Given the description of an element on the screen output the (x, y) to click on. 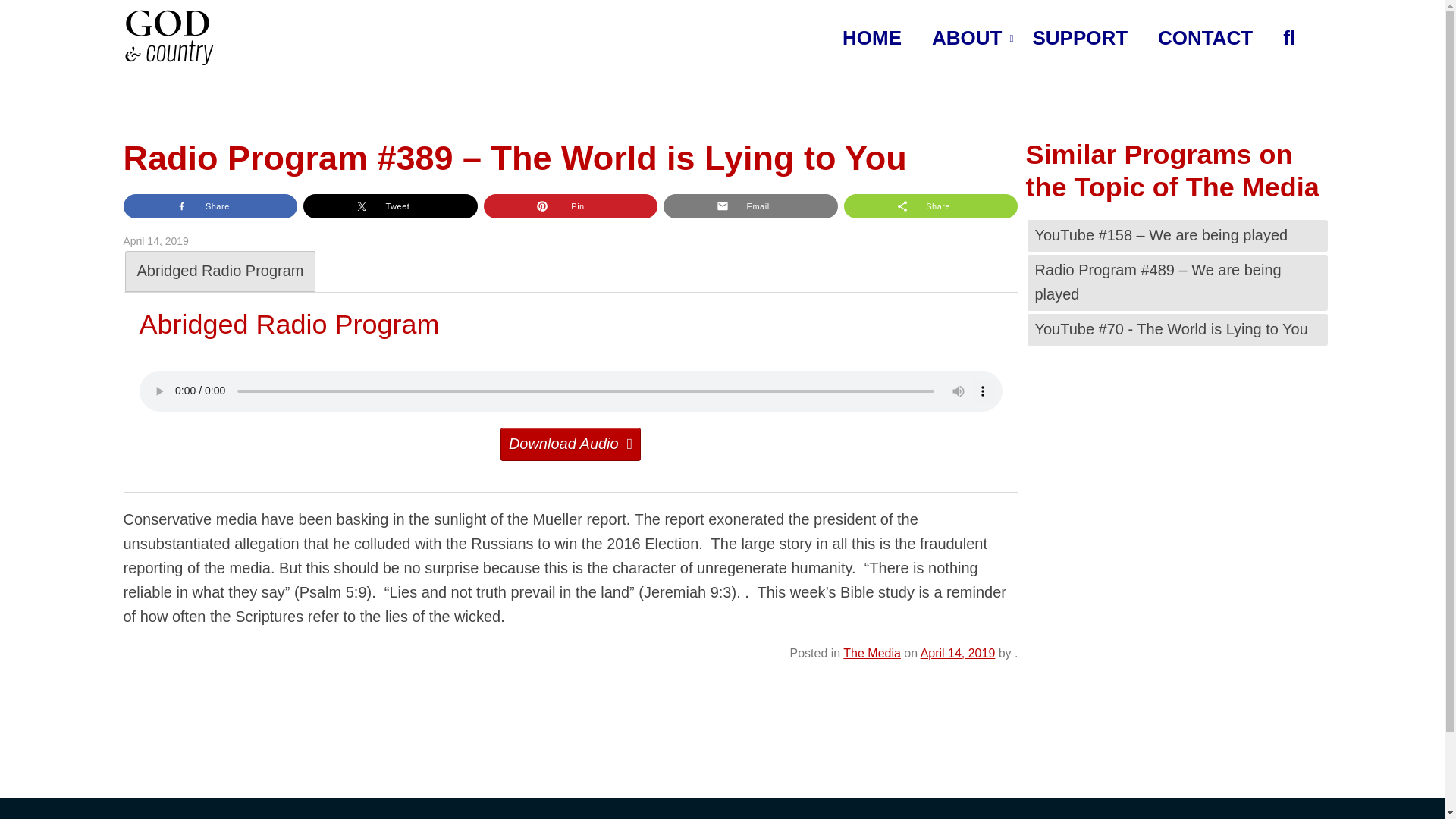
10:30 am (957, 653)
God and Country Radio (168, 37)
SUPPORT (1079, 38)
The Media (872, 653)
Download Audio   (570, 444)
CONTACT (1205, 38)
HOME (872, 38)
April 14, 2019 (957, 653)
Abridged Radio Program (219, 270)
ABOUT (966, 38)
